Given the description of an element on the screen output the (x, y) to click on. 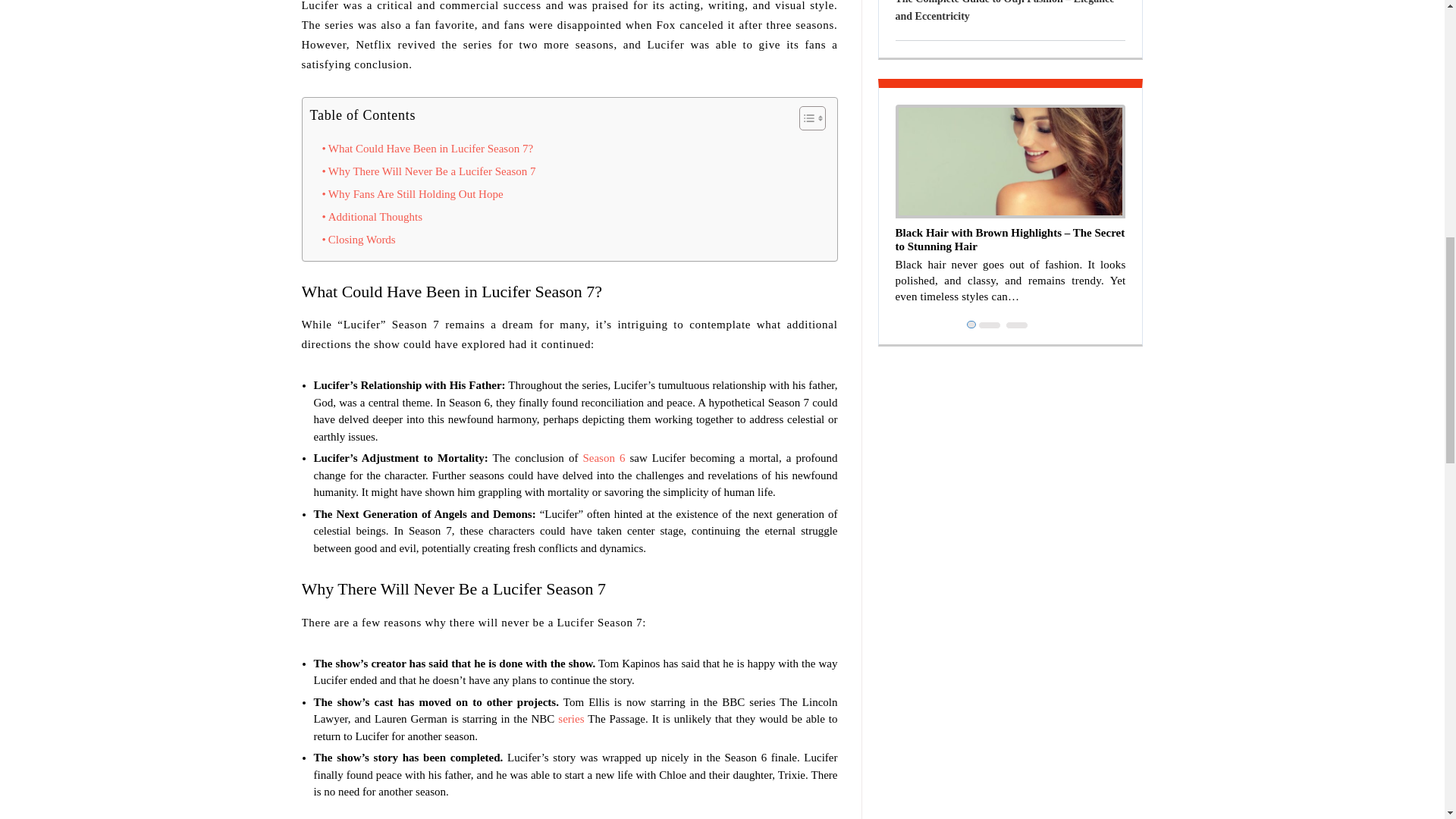
Closing Words (357, 239)
Additional Thoughts (371, 217)
Why There Will Never Be a Lucifer Season 7 (428, 171)
What Could Have Been in Lucifer Season 7? (426, 148)
Why Fans Are Still Holding Out Hope (411, 194)
